Given the description of an element on the screen output the (x, y) to click on. 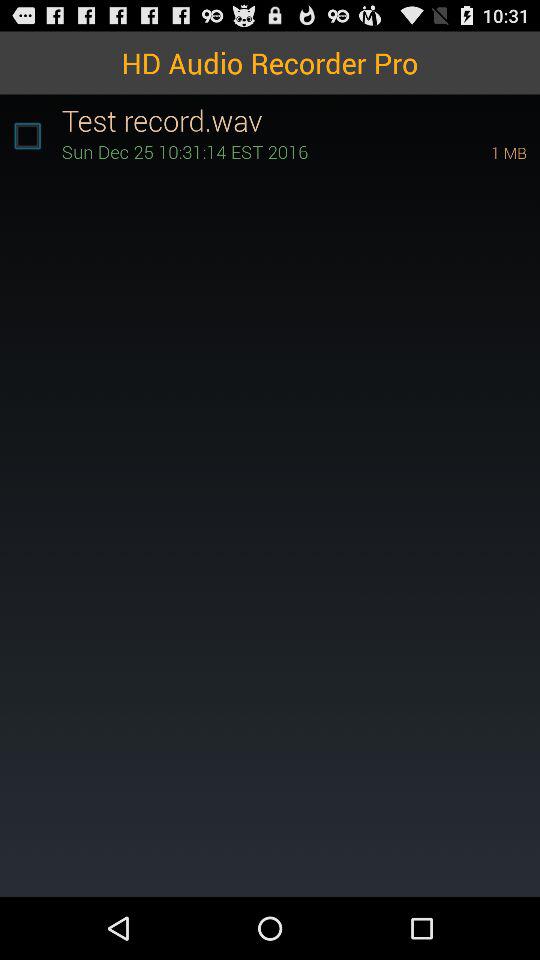
select item (27, 136)
